Given the description of an element on the screen output the (x, y) to click on. 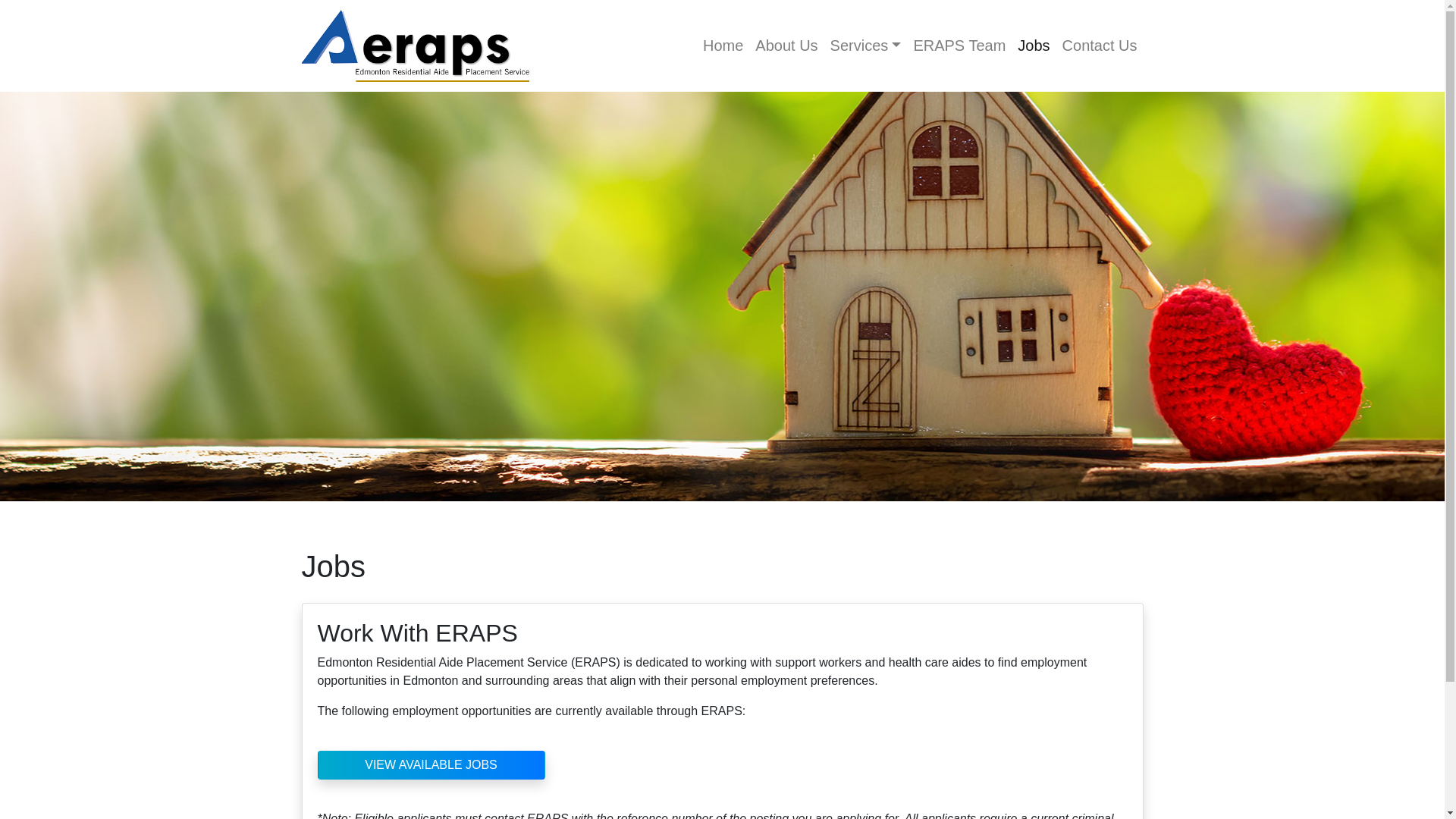
Contact Us (1099, 45)
Jobs (1033, 45)
About Us (786, 45)
ERAPS Team (959, 45)
Jobs (1033, 45)
Services (865, 45)
VIEW AVAILABLE JOBS (430, 765)
Contact Us (1099, 45)
About Us (786, 45)
Home (723, 45)
ERAPS Team (959, 45)
Services (865, 45)
Home (723, 45)
